Given the description of an element on the screen output the (x, y) to click on. 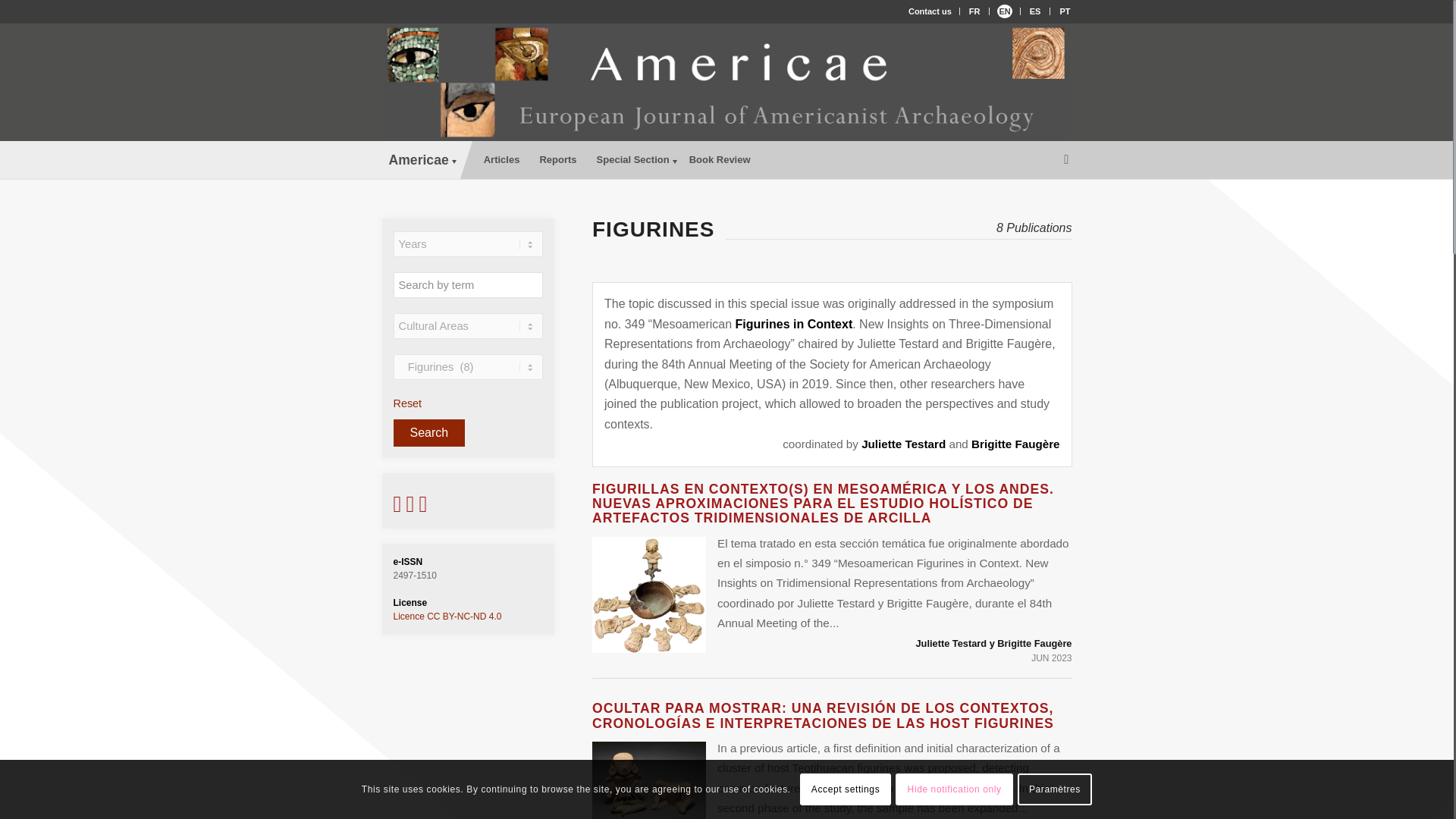
EN (1004, 11)
FR (974, 11)
Licence CC BY-NC-ND 4.0 (446, 615)
Search (428, 432)
Reports (557, 159)
Book Review (719, 159)
Reset (407, 403)
Articles (501, 159)
